Given the description of an element on the screen output the (x, y) to click on. 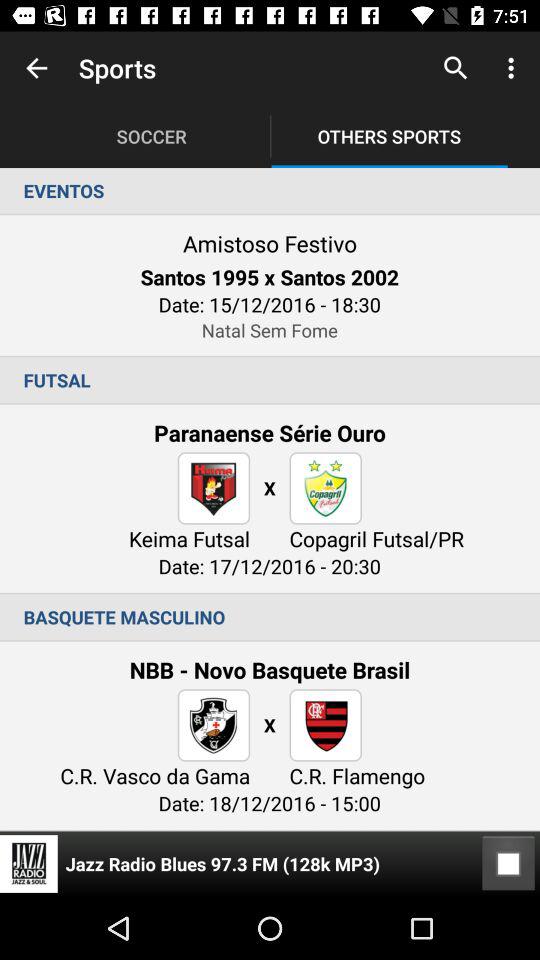
select item next to jazz radio blues icon (508, 863)
